Given the description of an element on the screen output the (x, y) to click on. 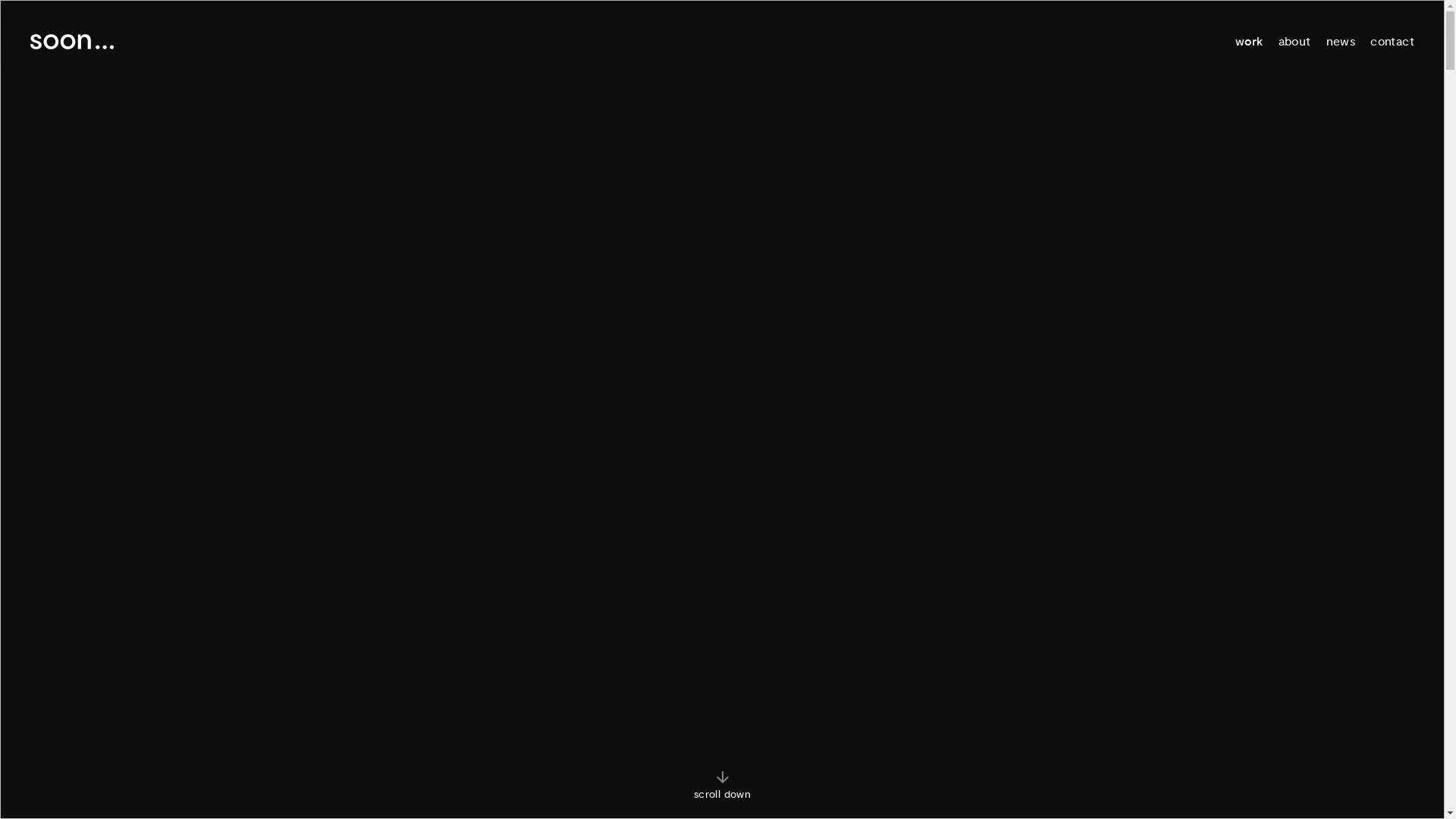
about Element type: text (1294, 41)
arrow_downward
scroll down Element type: text (721, 784)
work Element type: text (1249, 41)
news Element type: text (1340, 41)
contact Element type: text (1392, 41)
